Given the description of an element on the screen output the (x, y) to click on. 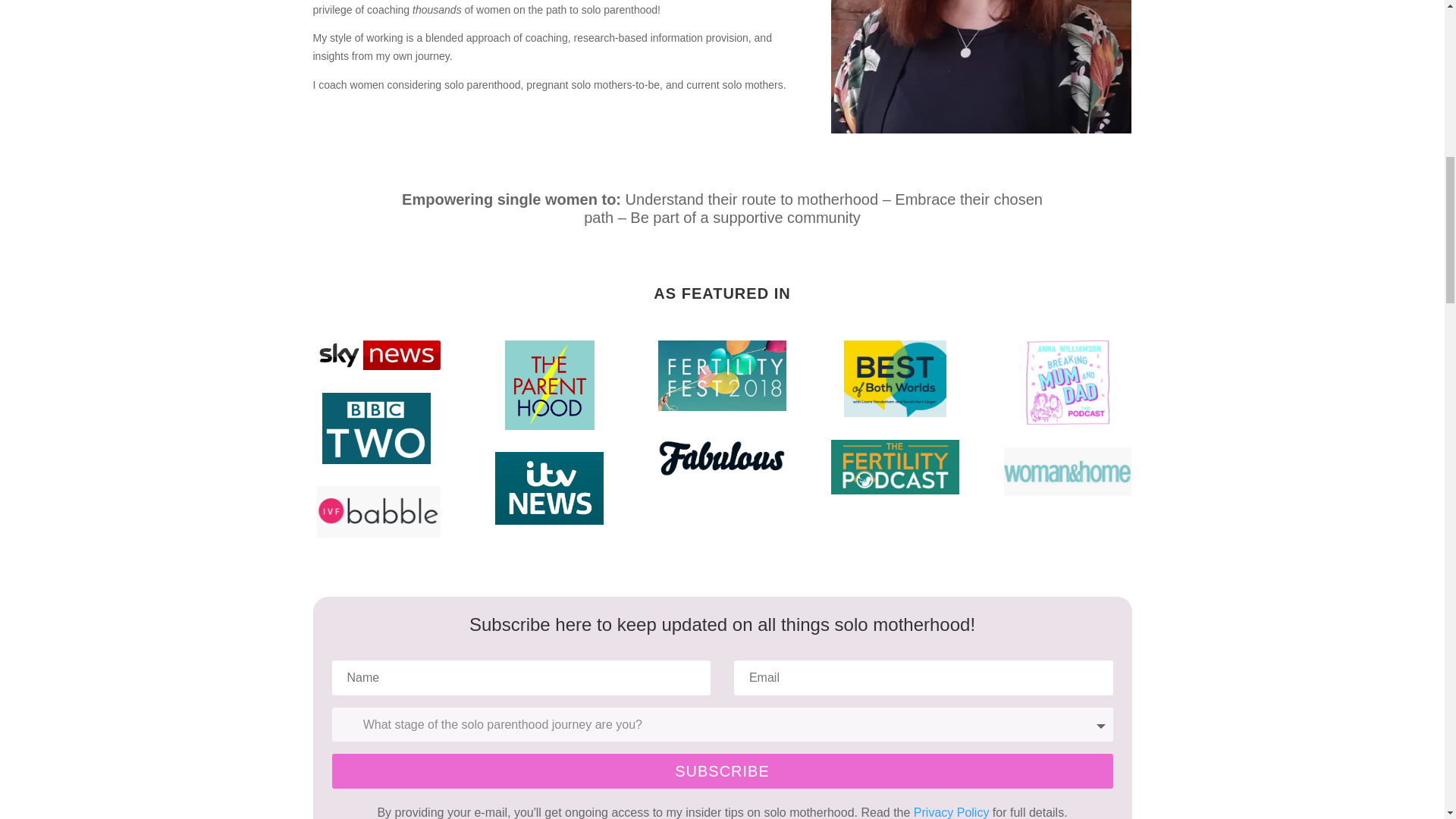
parenthood (549, 384)
Mel Johnson - Solo Motherhood Coach (981, 66)
Screenshot 2020-05-14 at 18.19.50 (1067, 471)
Screenshot 2020-05-14 at 10.30.25 (722, 456)
SUBSCRIBE (722, 770)
Privacy Policy (952, 812)
Sky News (376, 355)
Screenshot 2020-05-14 at 10.34.44 (894, 466)
Screenshot 2020-05-14 at 10.35.15 (375, 428)
Fertility Fest 2018 (722, 375)
Screenshot 2020-05-14 at 10.29.30 (376, 511)
unnamed (549, 488)
Screenshot 2020-05-14 at 10.36.52 (1067, 382)
